Given the description of an element on the screen output the (x, y) to click on. 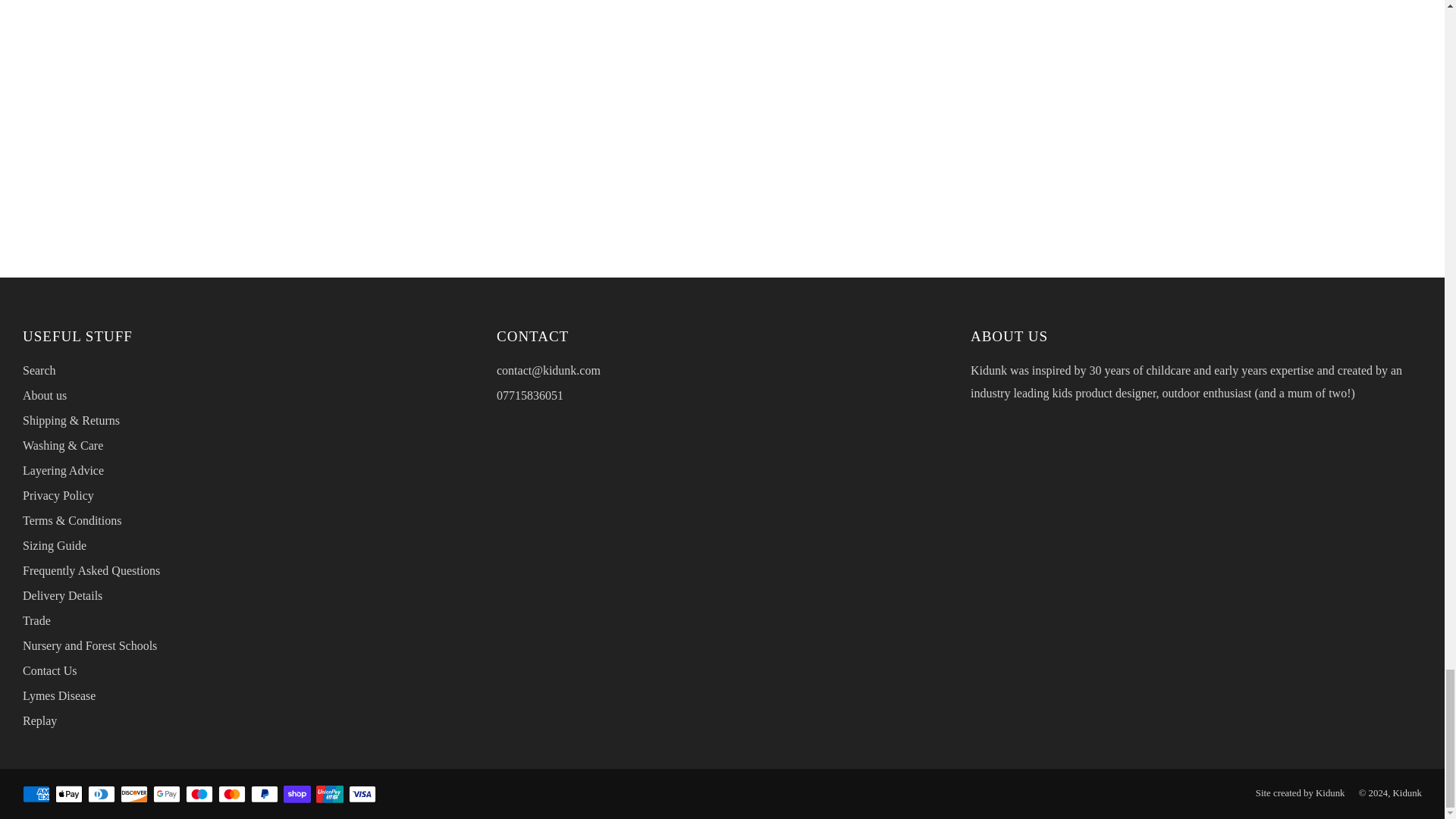
Shop Pay (297, 794)
Visa (362, 794)
Google Pay (166, 794)
Mastercard (232, 794)
Union Pay (329, 794)
Maestro (199, 794)
About us (44, 395)
Discover (134, 794)
Search (39, 369)
Apple Pay (68, 794)
PayPal (264, 794)
Diners Club (101, 794)
American Express (36, 794)
